Given the description of an element on the screen output the (x, y) to click on. 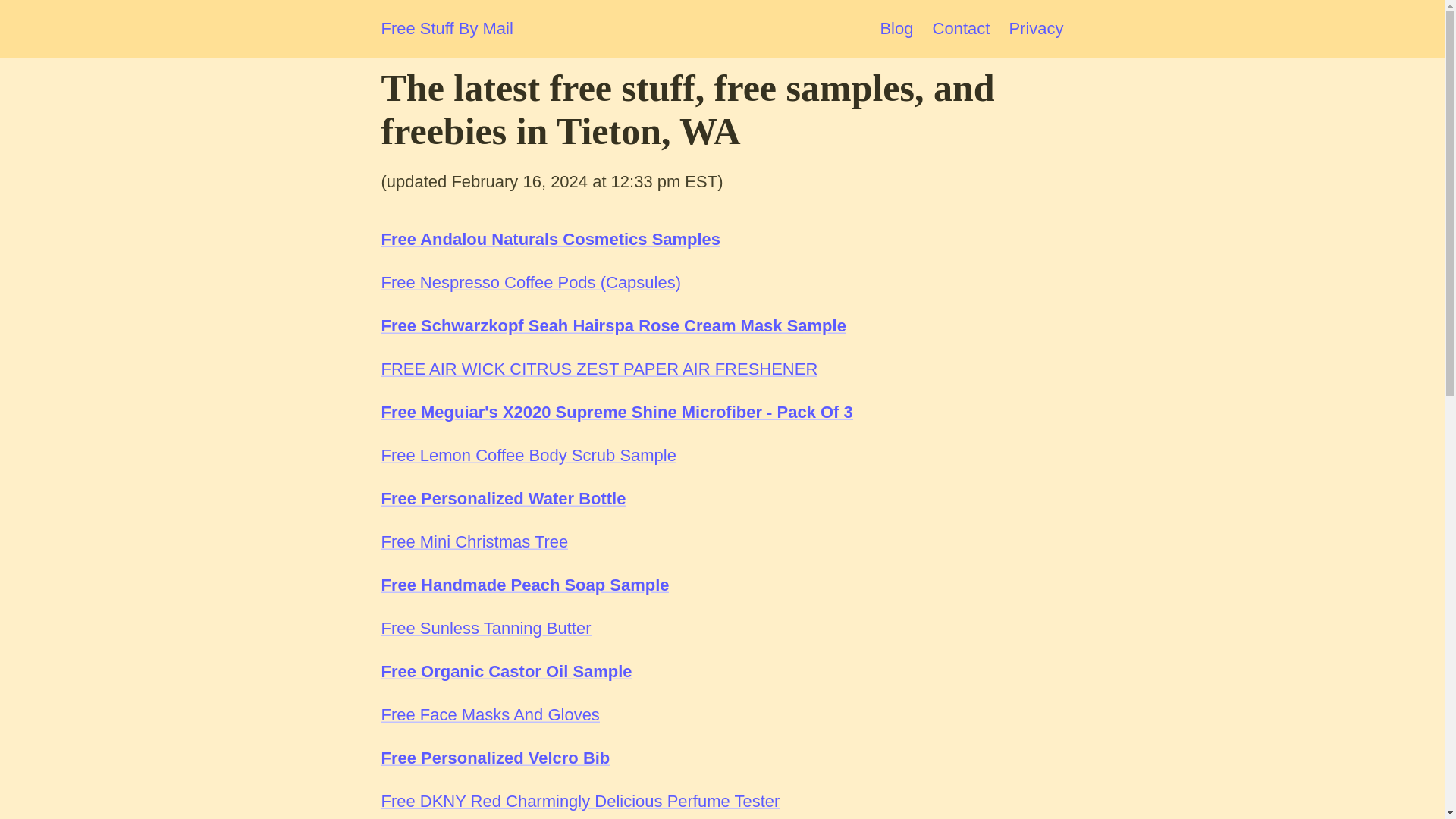
Blog (895, 27)
Free Personalized Water Bottle (503, 497)
Free DKNY Red Charmingly Delicious Perfume Tester (579, 800)
Free Andalou Naturals Cosmetics Samples (550, 239)
Free Sunless Tanning Butter (485, 628)
Free Meguiar's X2020 Supreme Shine Microfiber - Pack Of 3 (615, 411)
Free Mini Christmas Tree (473, 541)
Privacy (1035, 27)
Free Schwarzkopf Seah Hairspa Rose Cream Mask Sample (612, 325)
Free Lemon Coffee Body Scrub Sample (527, 455)
Free Organic Castor Oil Sample (505, 670)
Free Stuff By Mail (446, 28)
Free Handmade Peach Soap Sample (524, 584)
FREE AIR WICK CITRUS ZEST PAPER AIR FRESHENER (598, 368)
Contact (961, 27)
